Given the description of an element on the screen output the (x, y) to click on. 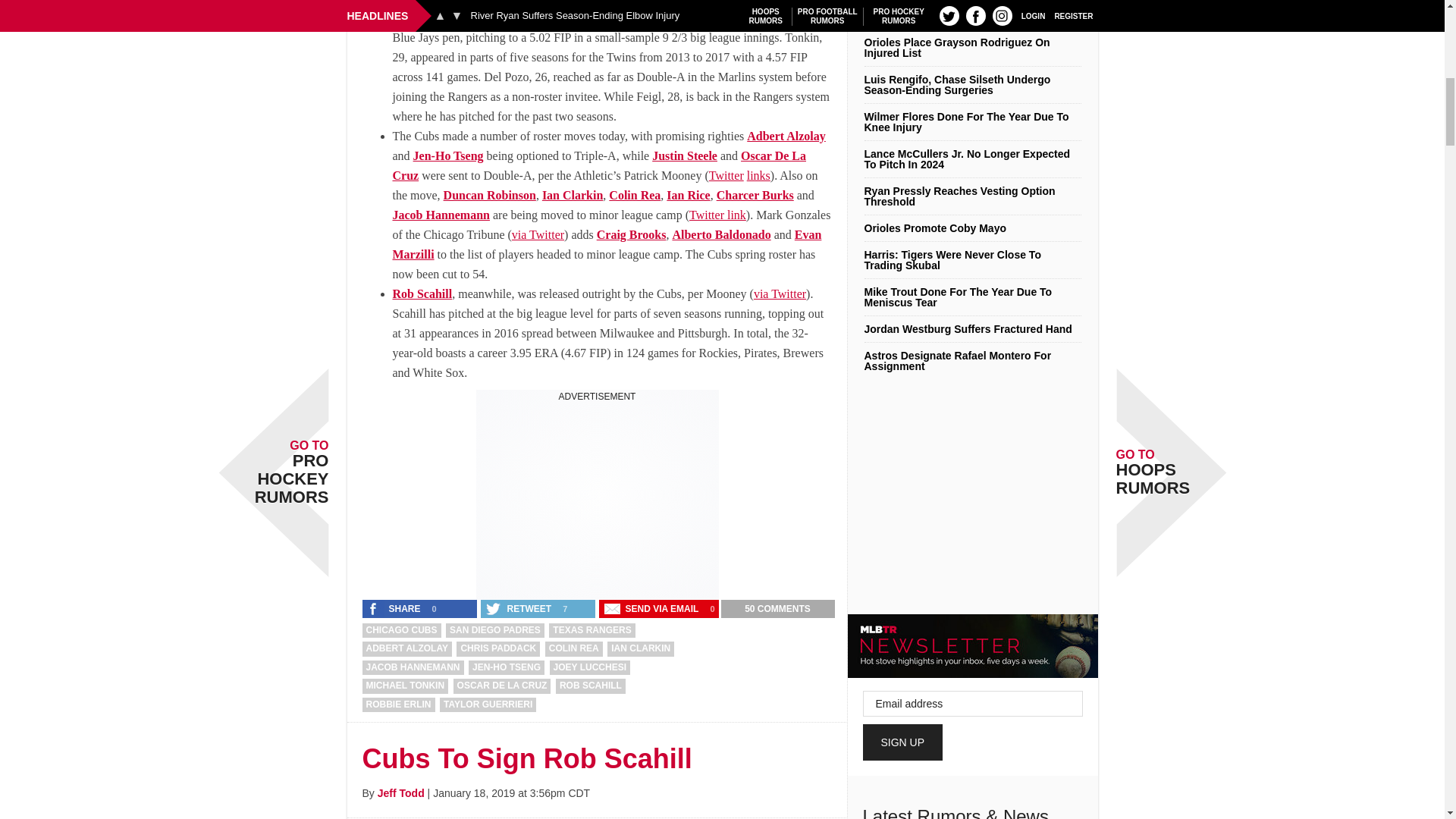
3rd party ad content (597, 497)
Sign Up (903, 741)
